Given the description of an element on the screen output the (x, y) to click on. 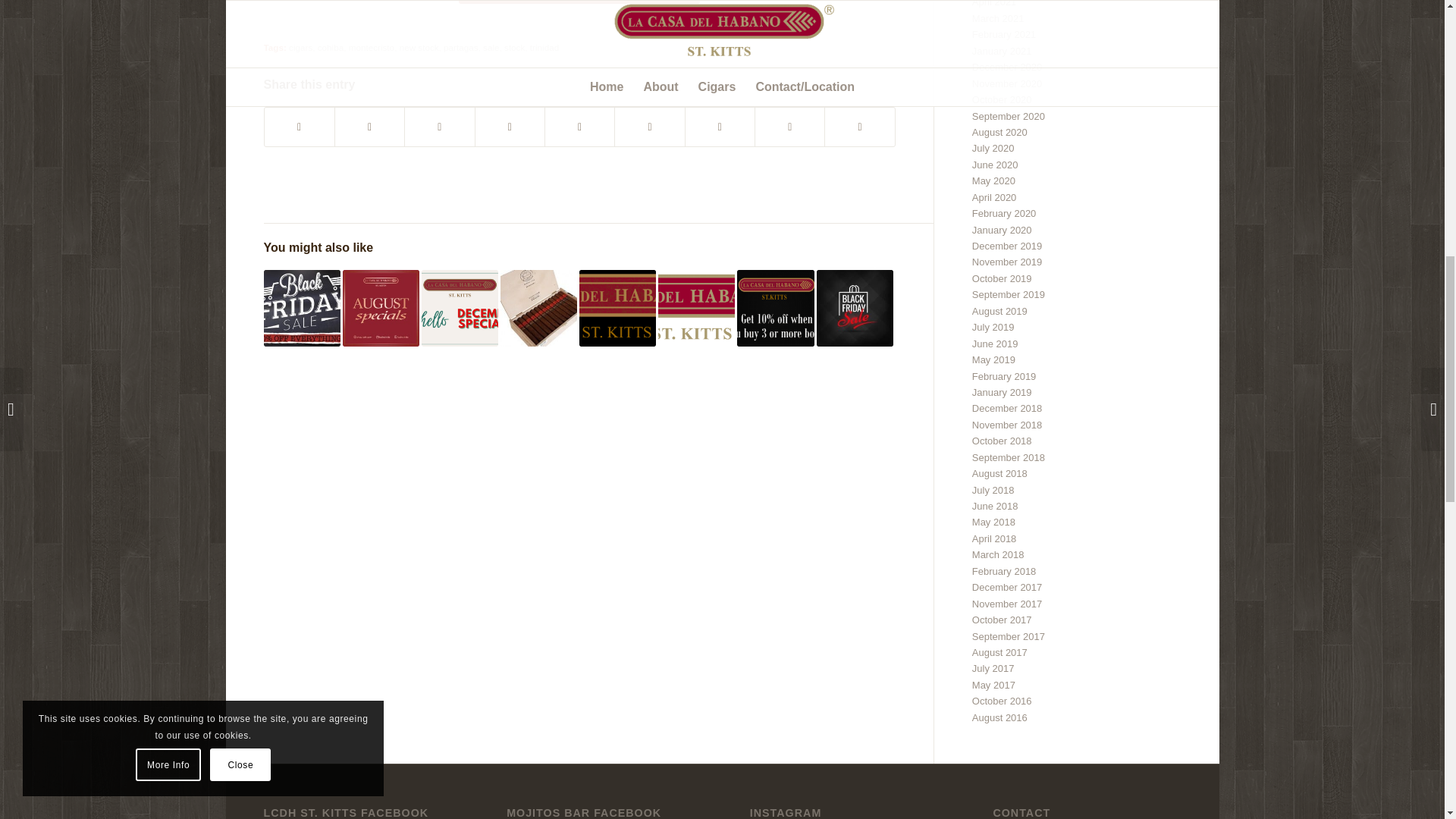
montecristo (371, 47)
cigars (300, 47)
trinidad (544, 47)
cohiba (330, 47)
partagas (460, 47)
Click to Visit LCDH Online Shop (579, 2)
new stock (418, 47)
sale (491, 47)
stock (513, 47)
